Given the description of an element on the screen output the (x, y) to click on. 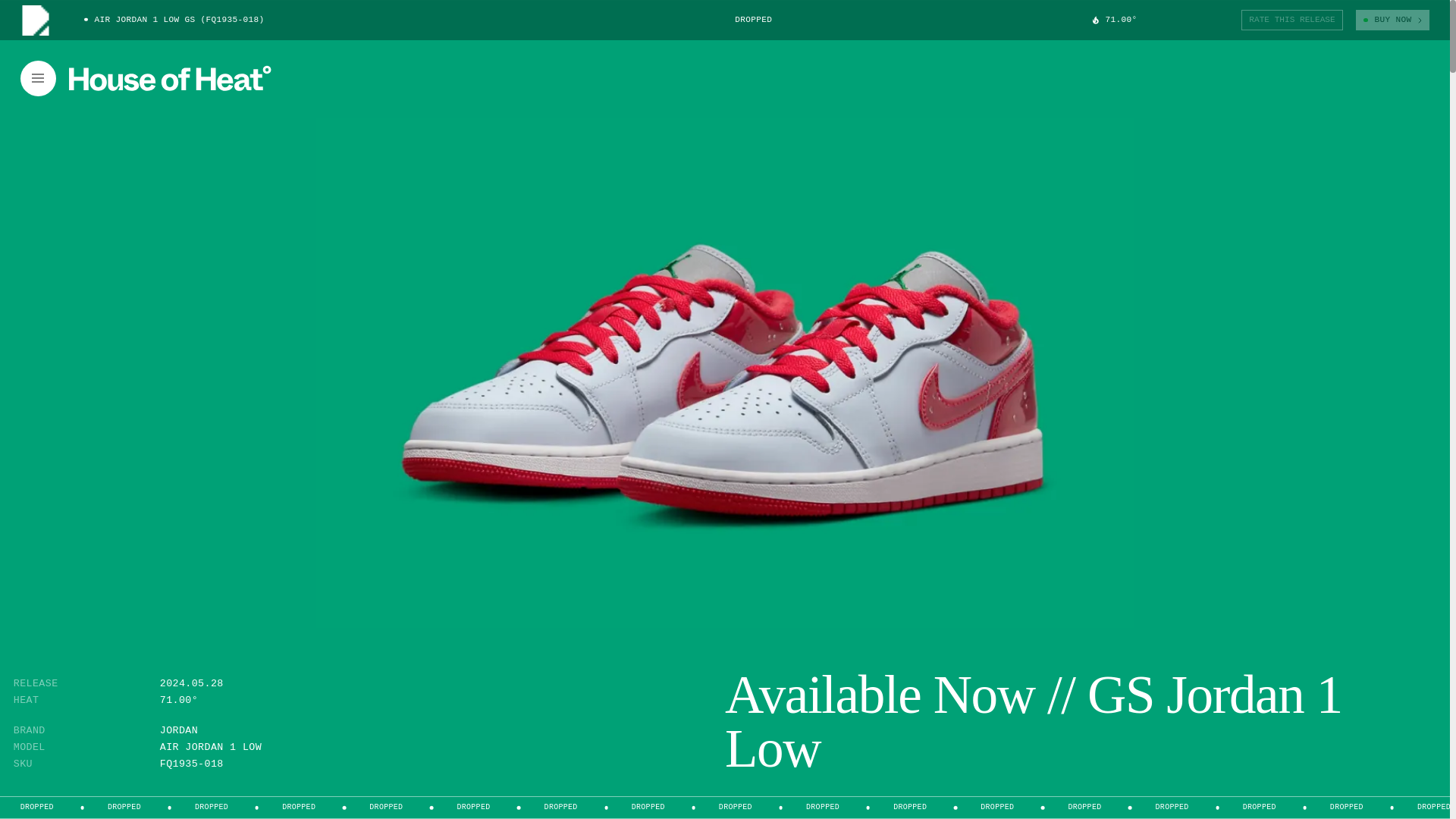
BUY NOW (1392, 19)
RATE THIS RELEASE (1291, 19)
JORDAN (179, 730)
AIR JORDAN 1 LOW (211, 747)
Open Menu (38, 78)
